Given the description of an element on the screen output the (x, y) to click on. 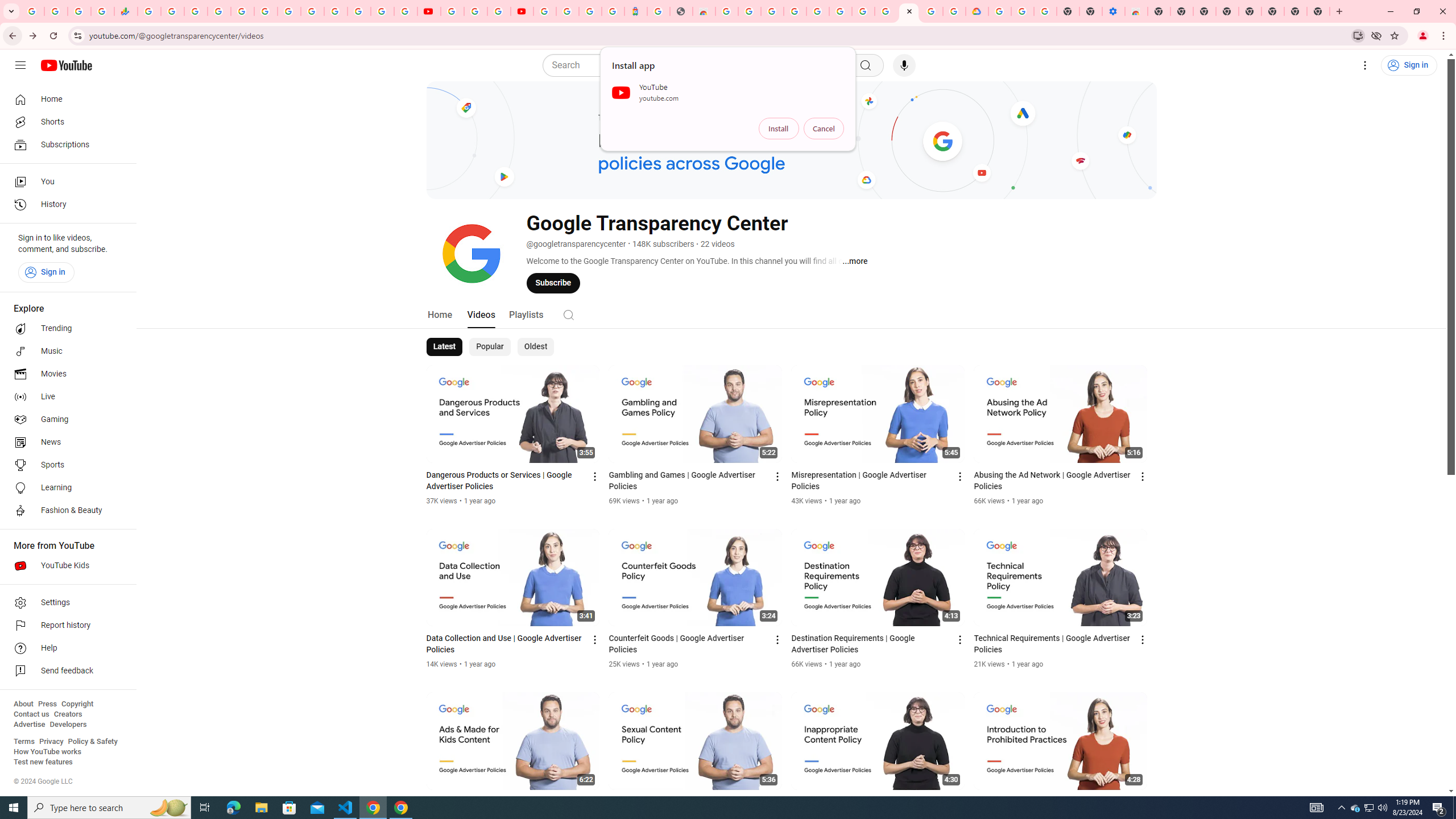
How YouTube works (47, 751)
Search (697, 65)
Developers (68, 724)
Policy & Safety (91, 741)
YouTube Kids (64, 565)
Browse the Google Chrome Community - Google Chrome Community (954, 11)
Press (46, 703)
Playlists (525, 314)
YouTube (451, 11)
About (23, 703)
New Tab (1318, 11)
Shorts (64, 121)
YouTube Home (66, 65)
